Given the description of an element on the screen output the (x, y) to click on. 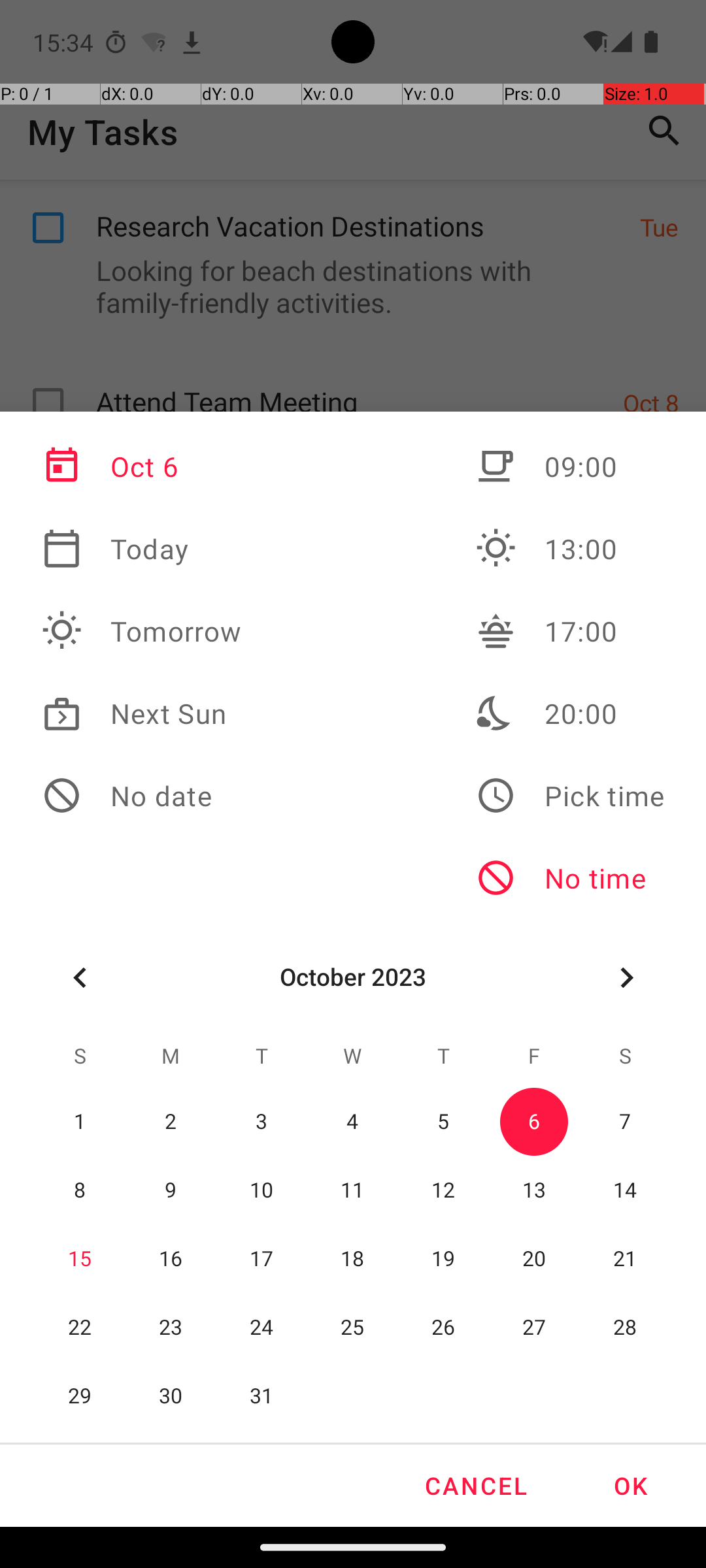
Oct 6 Element type: android.widget.CompoundButton (141, 466)
